Given the description of an element on the screen output the (x, y) to click on. 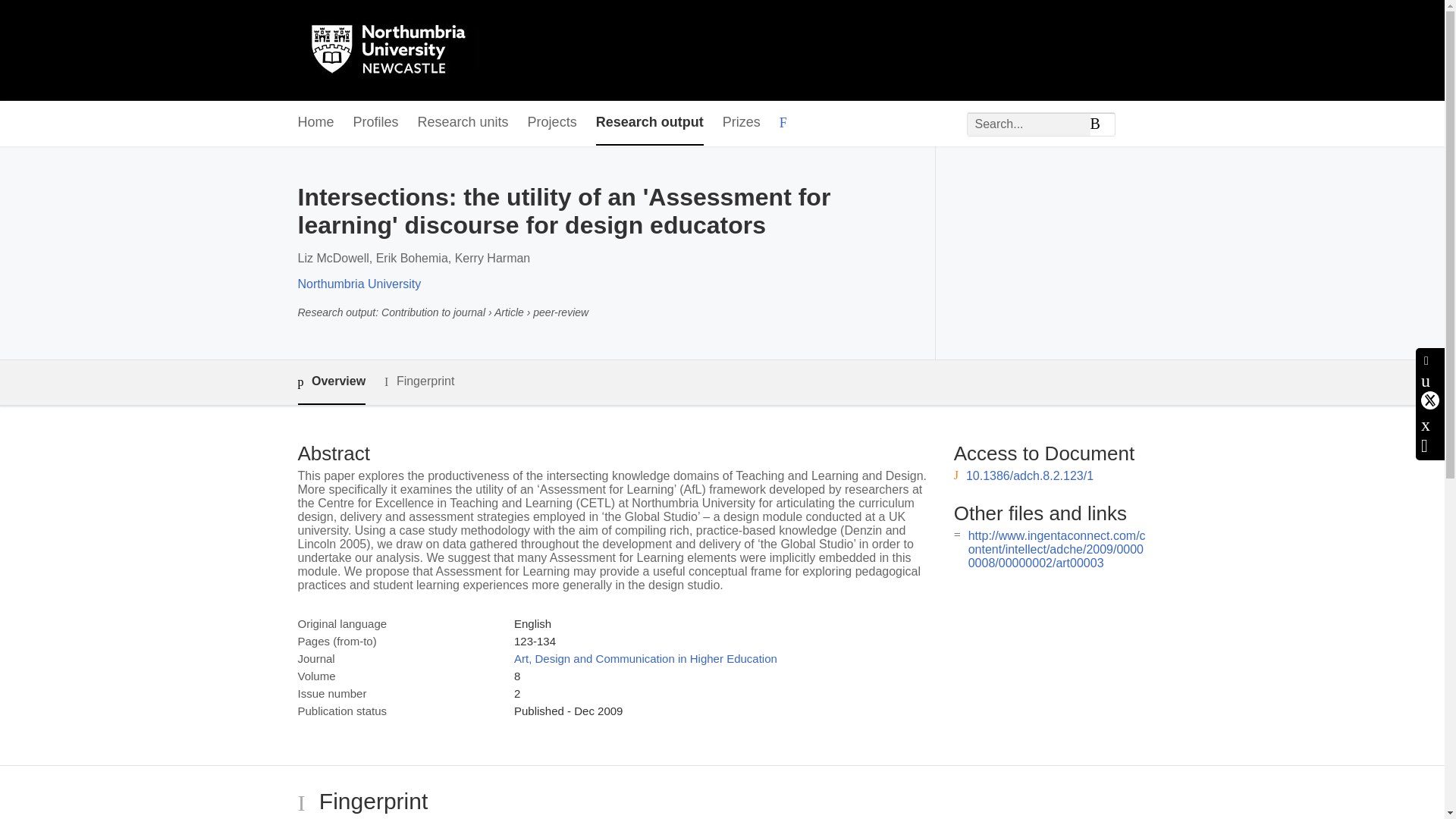
Art, Design and Communication in Higher Education (645, 658)
Northumbria University (358, 283)
Home (315, 122)
Fingerprint (419, 381)
Research output (649, 122)
Overview (331, 382)
Projects (551, 122)
Research units (462, 122)
Northumbria University Research Portal Home (398, 50)
Profiles (375, 122)
Prizes (741, 122)
